Given the description of an element on the screen output the (x, y) to click on. 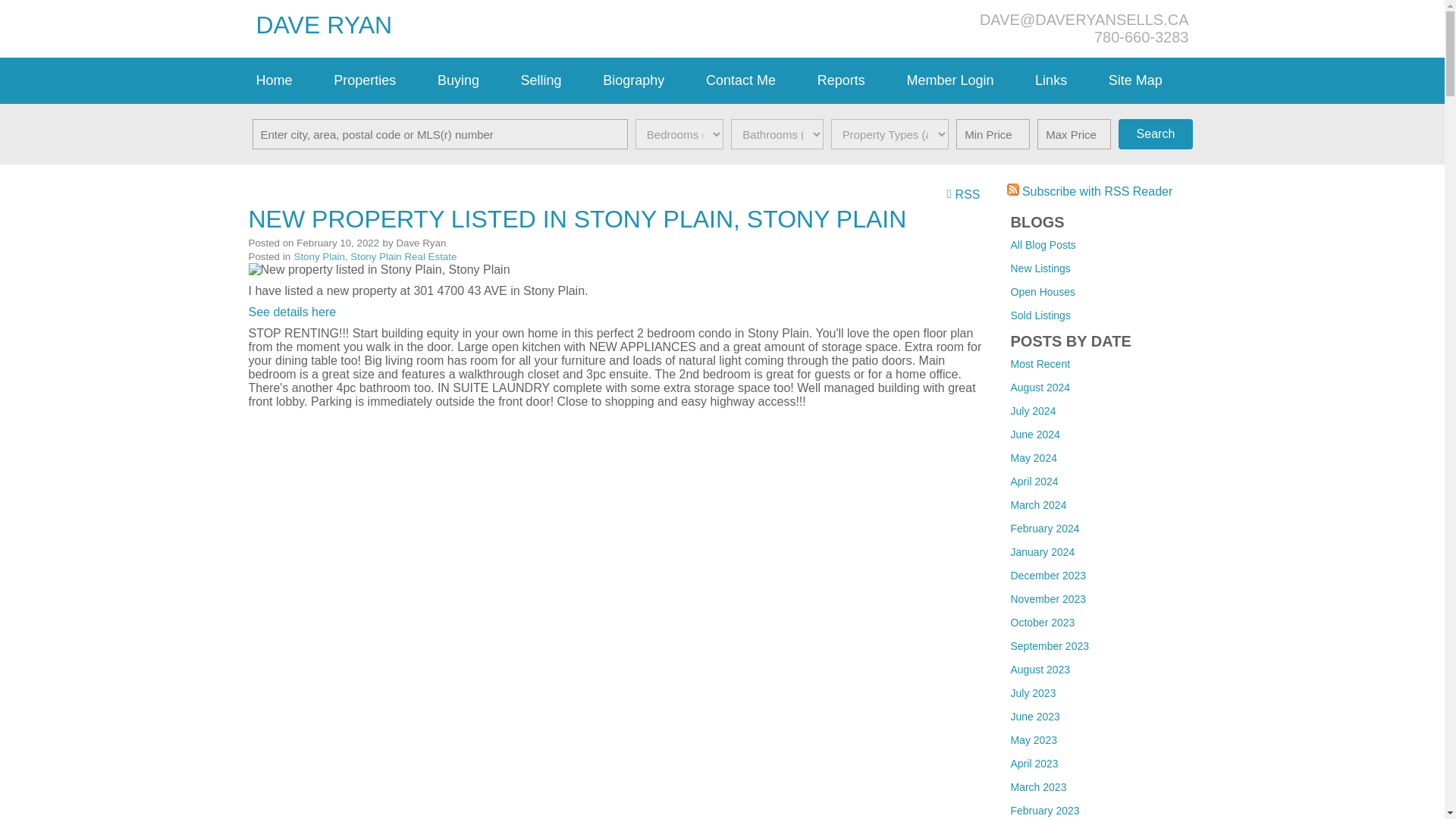
August 2024 (1040, 387)
Contact Me (753, 80)
April 2024 (1034, 481)
January 2024 (1042, 551)
All Blog Posts (1042, 244)
Member Login (962, 80)
Sold Listings (1040, 315)
September 2023 (1049, 645)
Open Houses (1042, 291)
July 2024 (1032, 410)
